Given the description of an element on the screen output the (x, y) to click on. 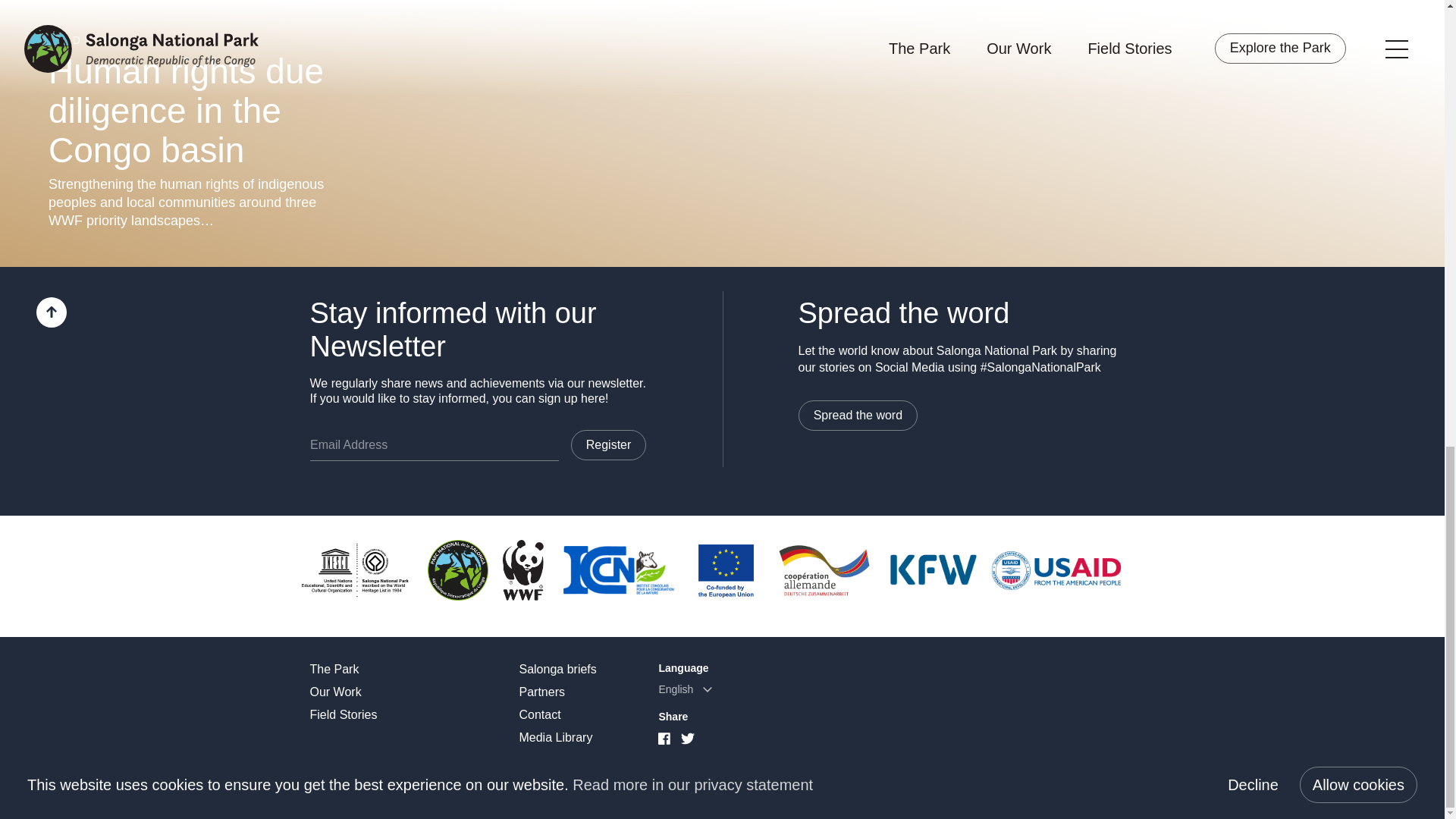
Share this site on Twitter (687, 738)
Share this site on Facebook (664, 737)
Share this site on Twitter (687, 737)
Spread the word (857, 415)
Register (608, 444)
Back up (51, 312)
